Given the description of an element on the screen output the (x, y) to click on. 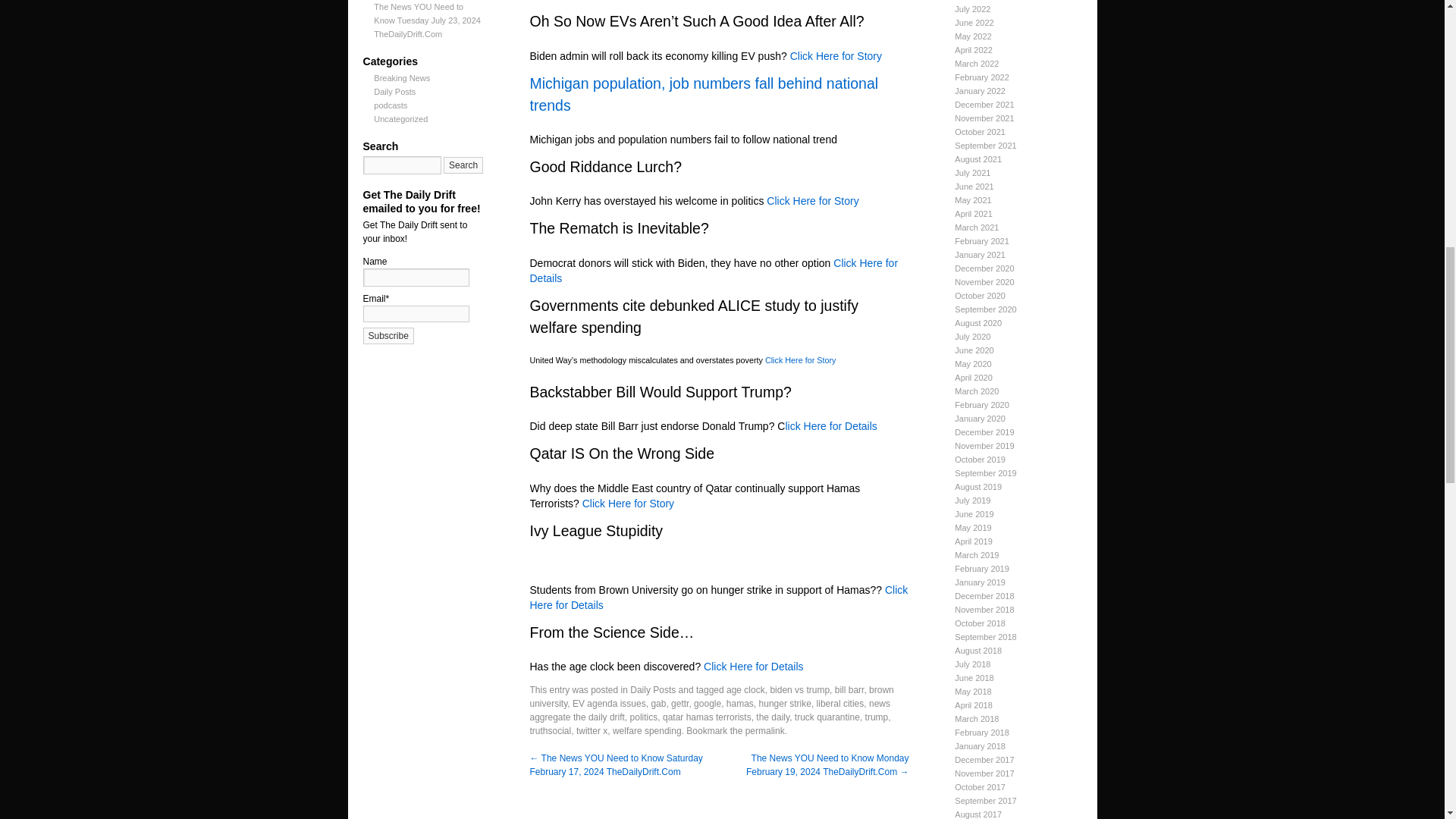
Breaking News (401, 77)
podcasts (390, 104)
Search (463, 165)
Search (463, 165)
Subscribe (387, 335)
Uncategorized (401, 118)
Subscribe (387, 335)
Daily Posts (394, 91)
